Given the description of an element on the screen output the (x, y) to click on. 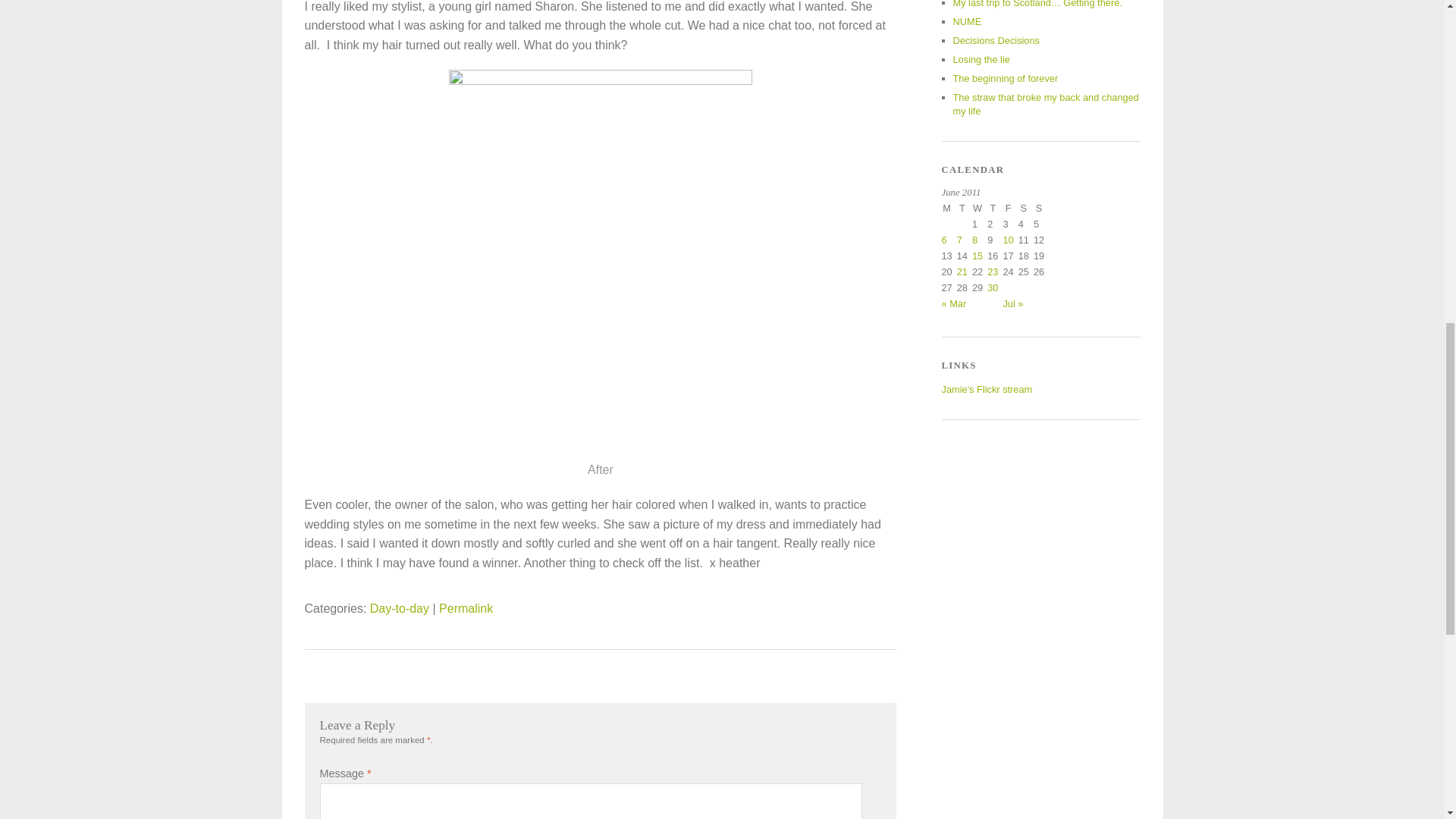
Tuesday (964, 210)
Decisions Decisions (995, 40)
Saturday (1025, 210)
Permalink (466, 608)
Wednesday (979, 210)
Friday (1010, 210)
NUME (966, 21)
Day-to-day (399, 608)
Monday (949, 210)
Thursday (995, 210)
